Given the description of an element on the screen output the (x, y) to click on. 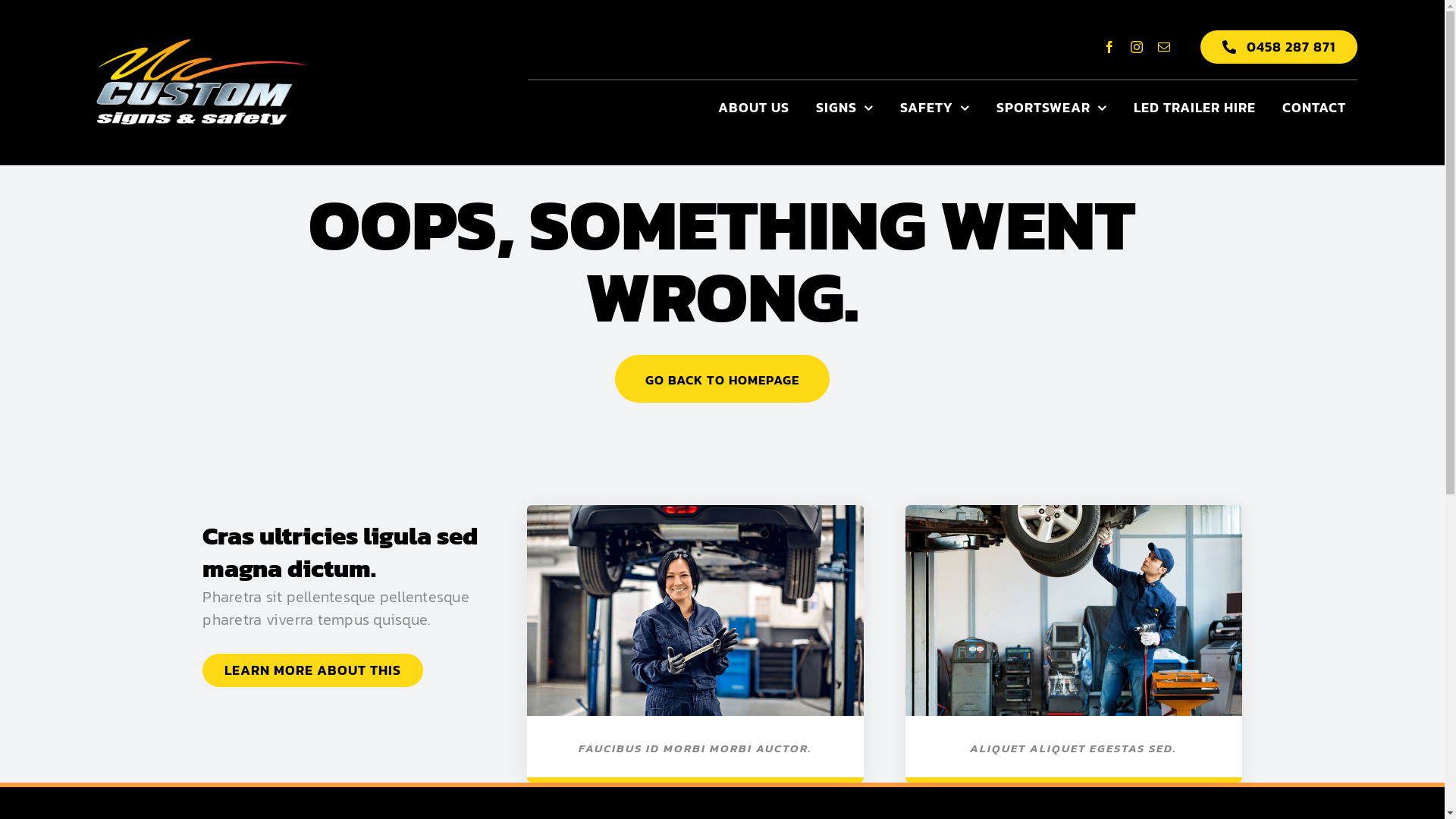
SIGNS Element type: text (844, 107)
LED TRAILER HIRE Element type: text (1194, 107)
Man fixing car Element type: hover (1073, 610)
CONTACT Element type: text (1313, 107)
Woman holding tool Element type: hover (695, 610)
SAFETY Element type: text (934, 107)
0458 287 871 Element type: text (1278, 46)
GO BACK TO HOMEPAGE Element type: text (722, 378)
LEARN MORE ABOUT THIS Element type: text (312, 670)
SPORTSWEAR Element type: text (1051, 107)
ABOUT US Element type: text (753, 107)
